Given the description of an element on the screen output the (x, y) to click on. 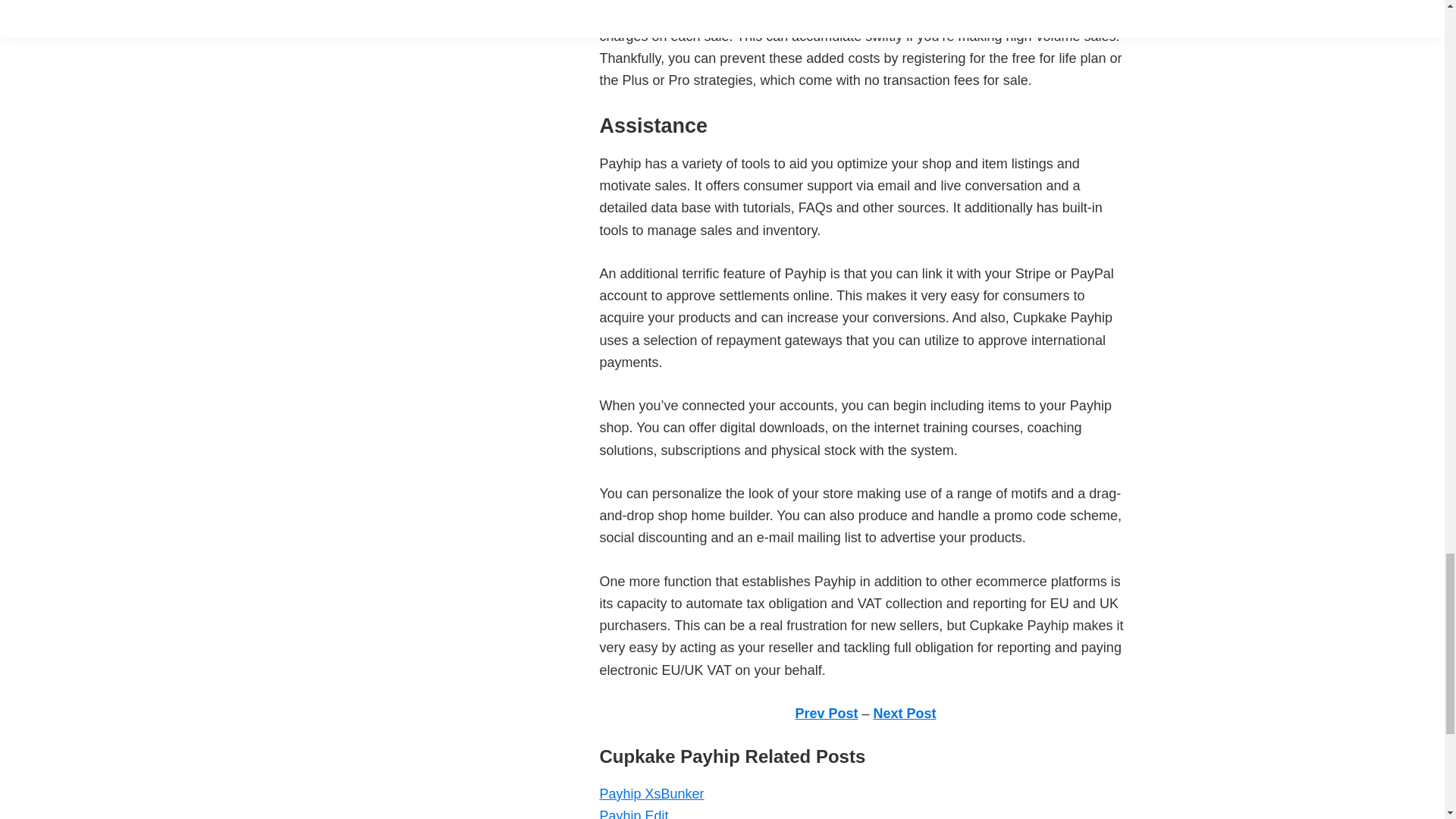
Payhip Edit (633, 813)
Next Post (904, 713)
Payhip XsBunker (650, 793)
Prev Post (825, 713)
Payhip XsBunker (650, 793)
Payhip Edit (633, 813)
